Given the description of an element on the screen output the (x, y) to click on. 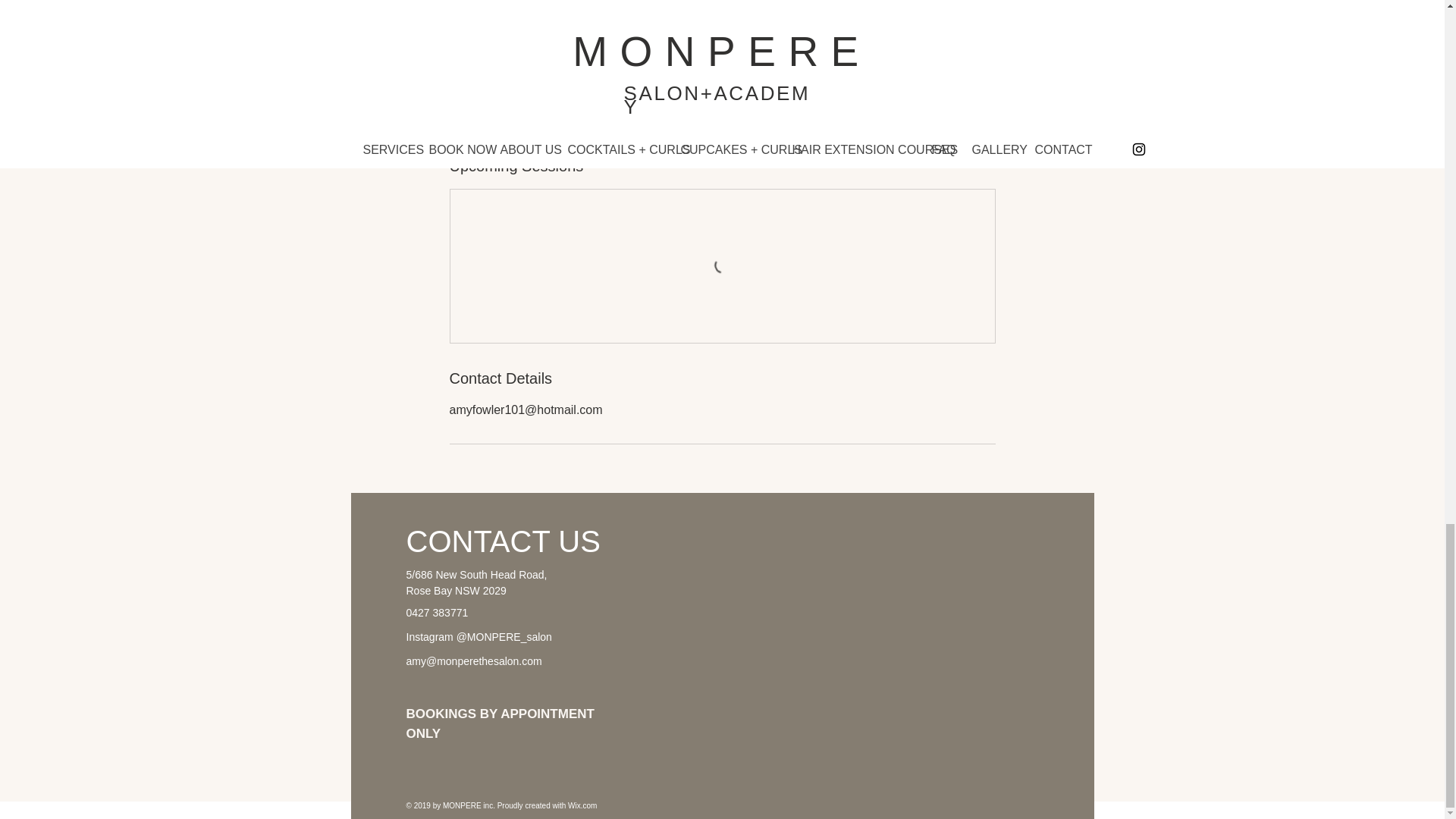
Wix.com (581, 805)
